Given the description of an element on the screen output the (x, y) to click on. 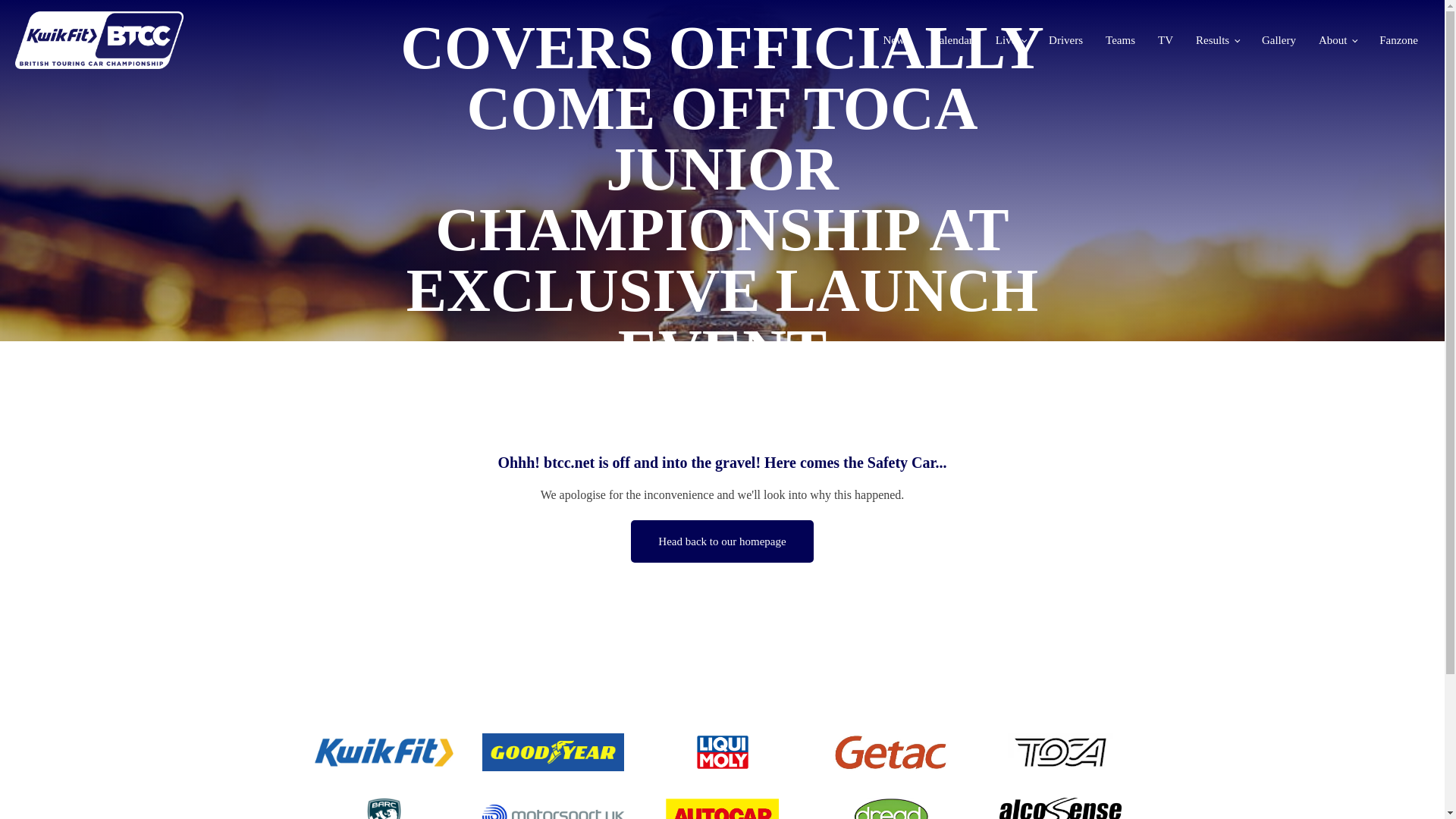
Drivers (1065, 40)
Gallery (1278, 40)
TV (1165, 40)
Calendar (951, 40)
Fanzone (1398, 40)
News (895, 40)
Teams (1119, 40)
Results (1217, 40)
Live (1010, 40)
About (1337, 40)
